Given the description of an element on the screen output the (x, y) to click on. 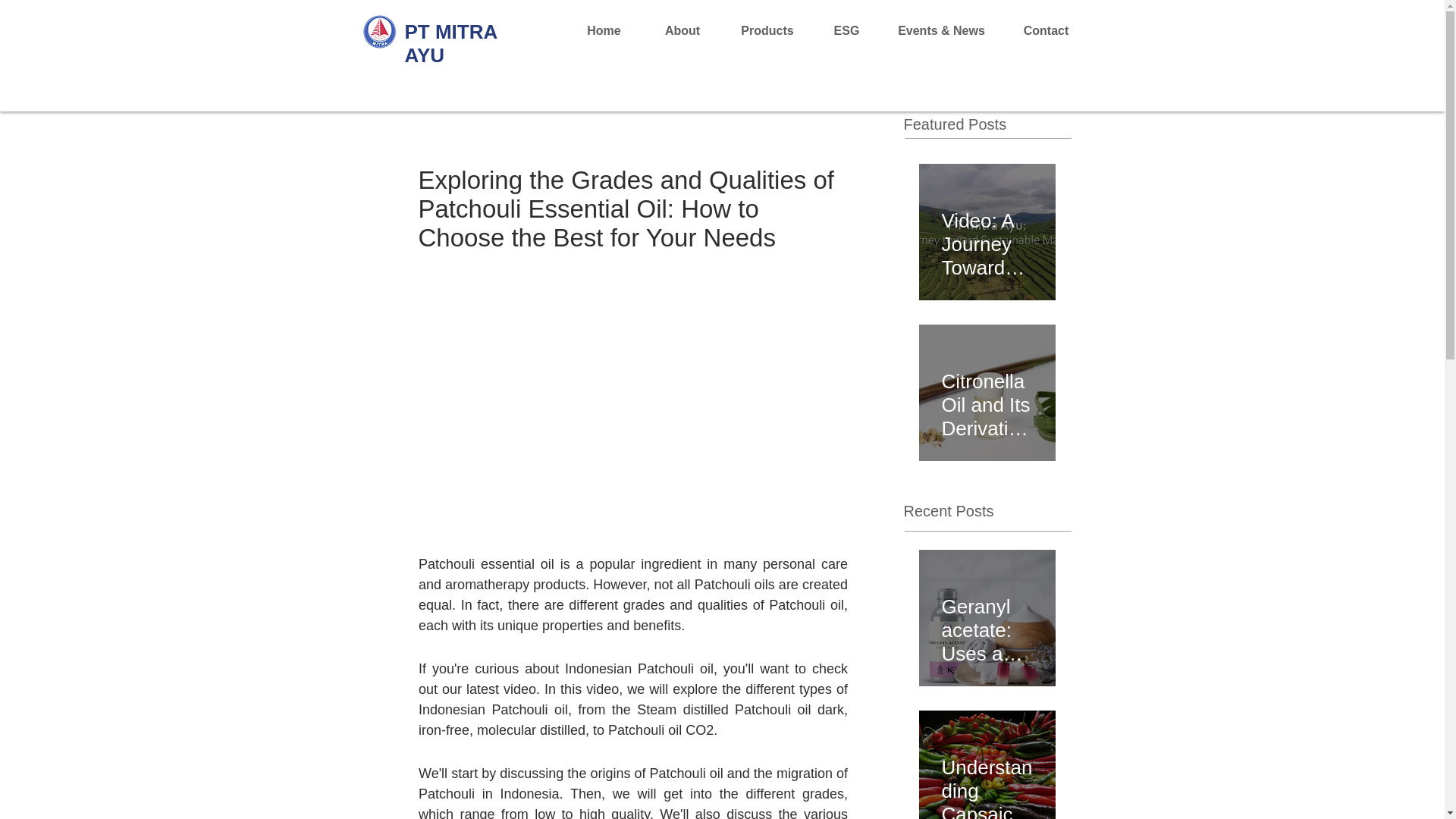
PT Mitra Ayu Adi Pratama (380, 31)
Home (603, 30)
Products (767, 30)
PT MITRA AYU (450, 43)
ESG (845, 30)
ricos-video (633, 345)
Contact (1046, 30)
Geranyl acetate: Uses and Applications (987, 623)
Citronella Oil and Its Derivatives (987, 398)
About (681, 30)
Video: A Journey Toward Sustainable Massoia (987, 237)
